Given the description of an element on the screen output the (x, y) to click on. 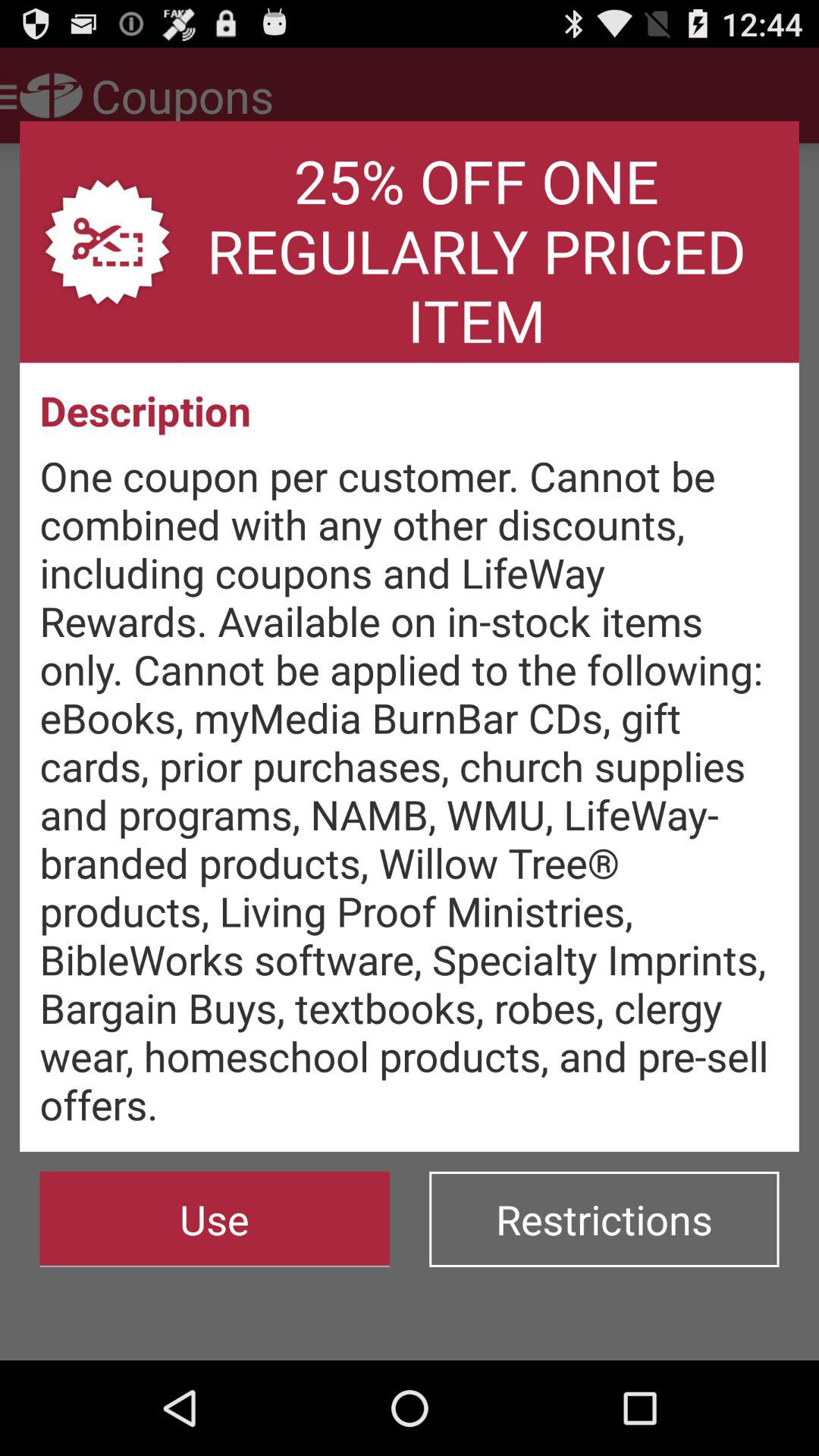
click icon to the left of the restrictions (214, 1219)
